Given the description of an element on the screen output the (x, y) to click on. 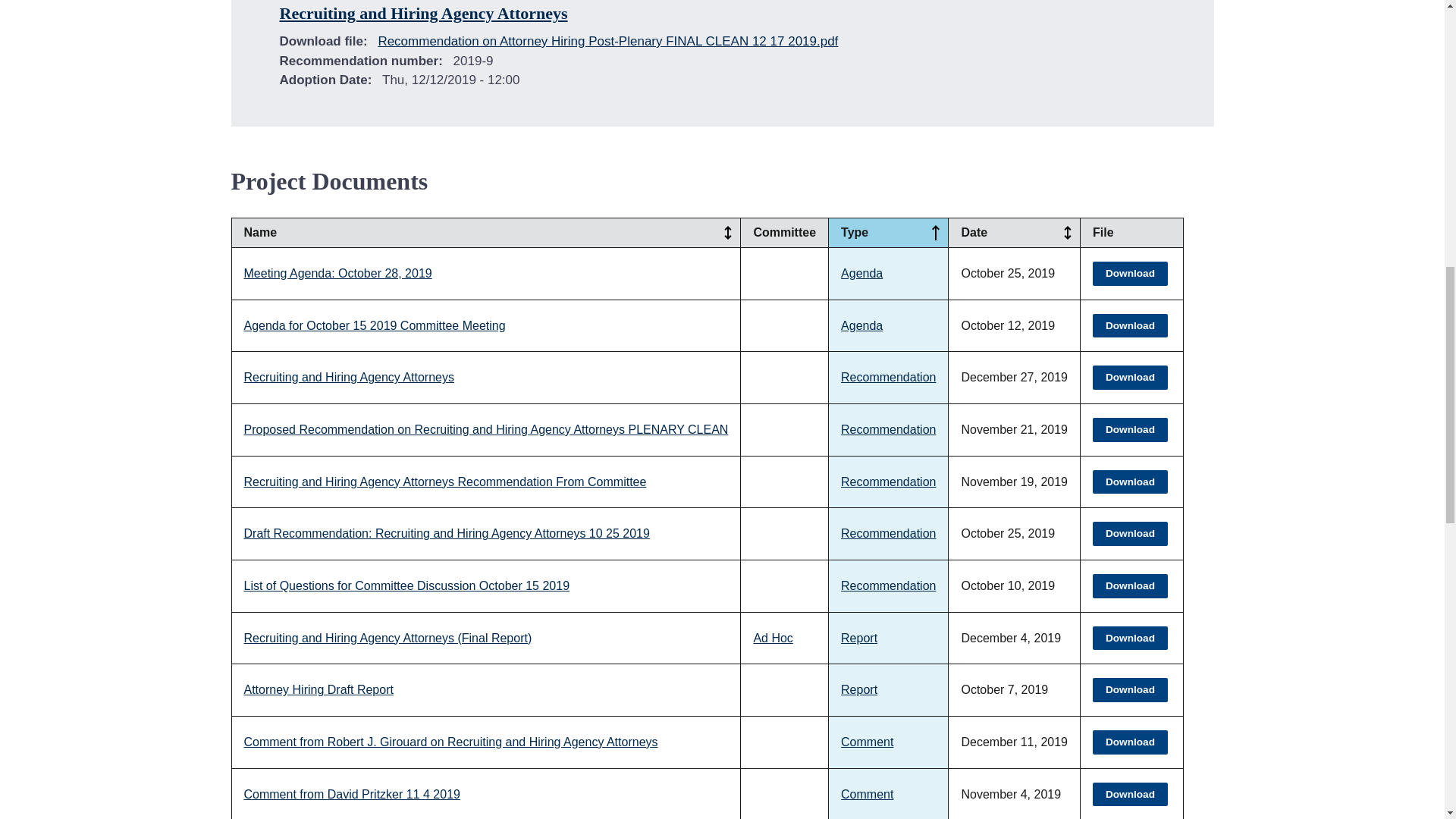
Click to sort by Type in descending order. (935, 232)
Click to sort by Name. (727, 232)
Click to sort by Date. (1067, 232)
